Given the description of an element on the screen output the (x, y) to click on. 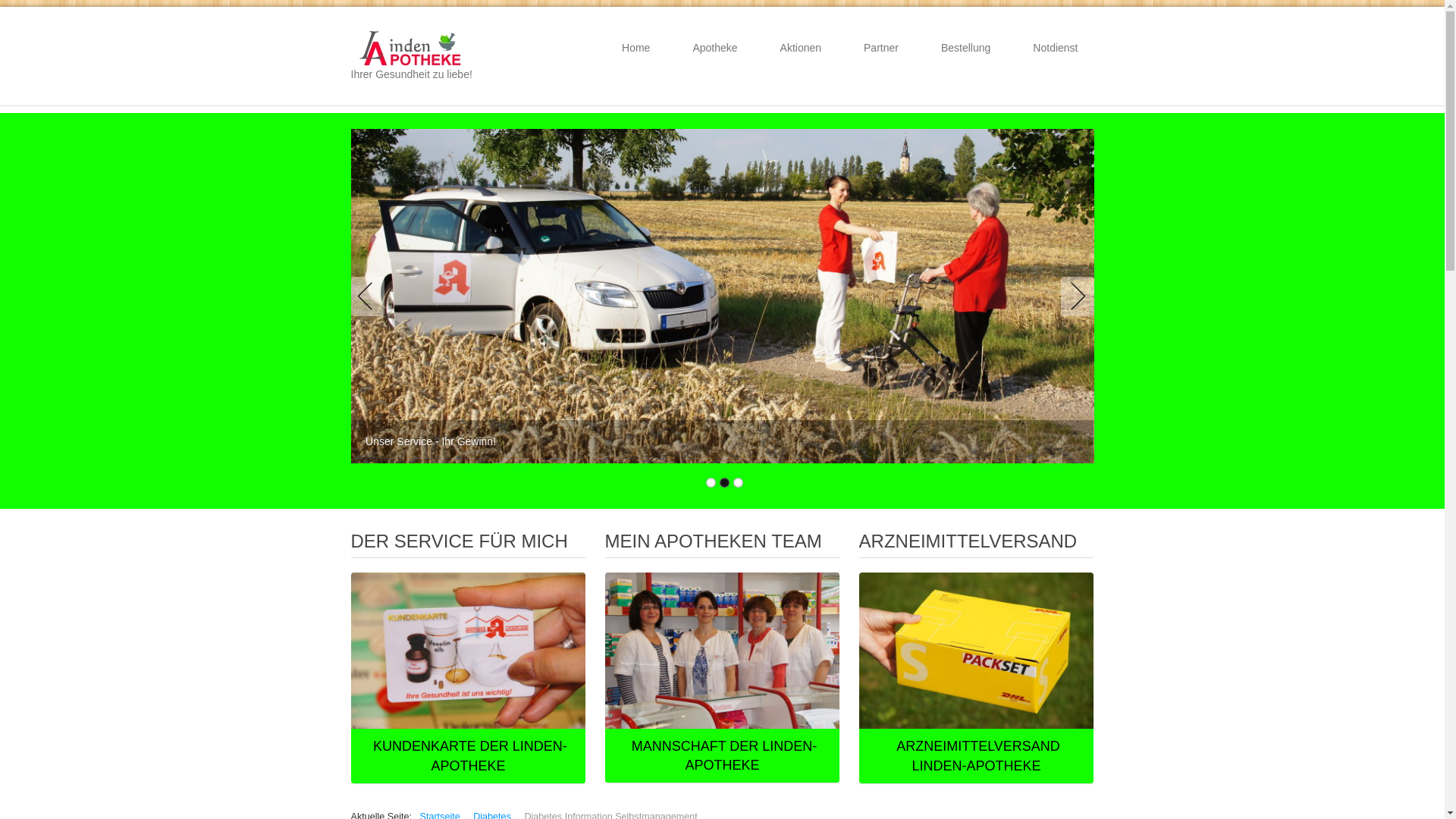
Home Element type: text (635, 47)
Apotheke Element type: text (714, 47)
Bestellung Element type: text (965, 47)
Previous Element type: text (369, 295)
Partner Element type: text (880, 47)
3 Element type: text (737, 482)
Aktionen Element type: text (800, 47)
1 Element type: text (710, 482)
Notdienst Element type: text (1054, 47)
Next Element type: text (1073, 295)
2 Element type: text (723, 482)
